Given the description of an element on the screen output the (x, y) to click on. 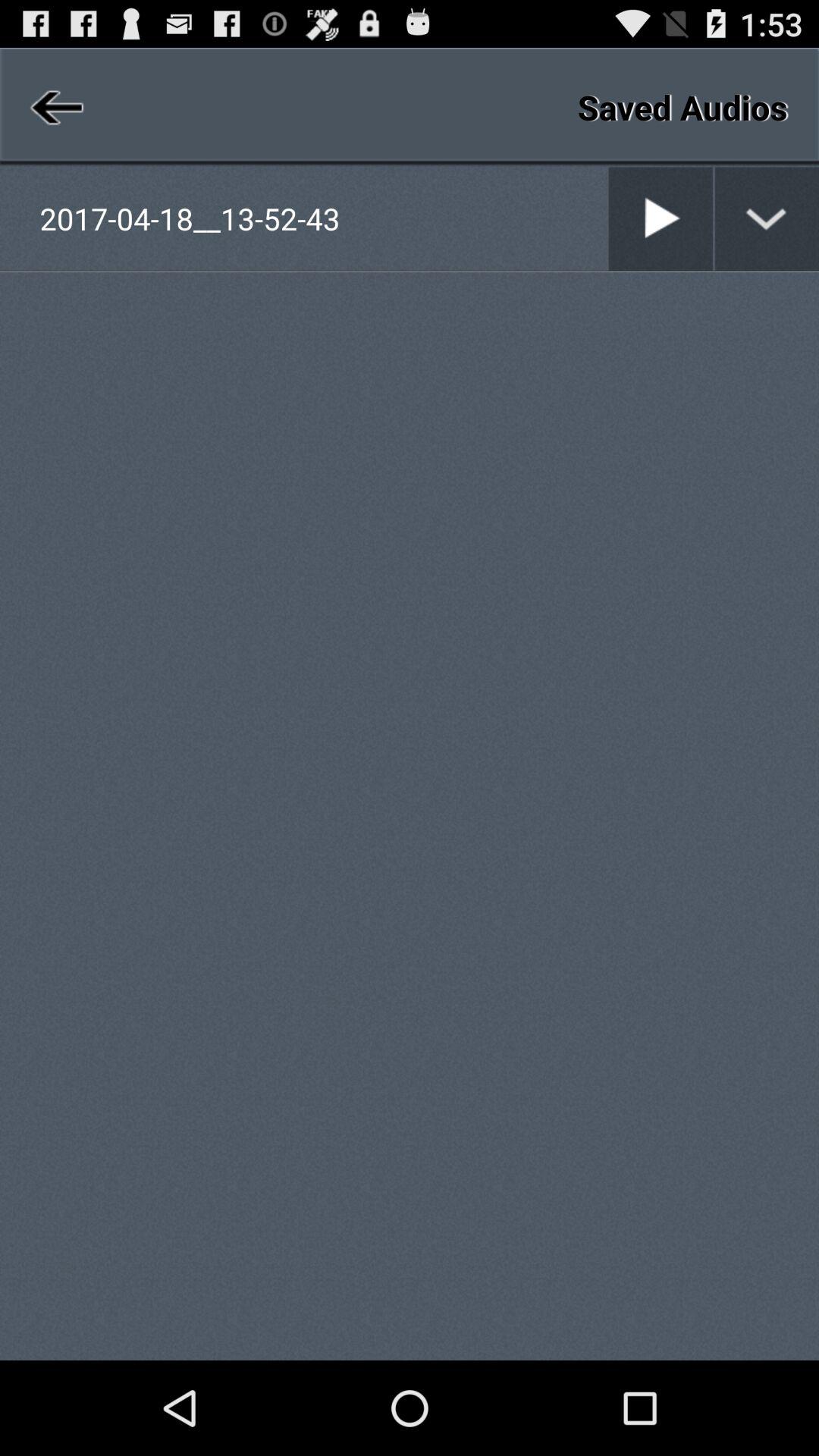
click the item to the right of 2017 04 18__13 item (608, 218)
